Given the description of an element on the screen output the (x, y) to click on. 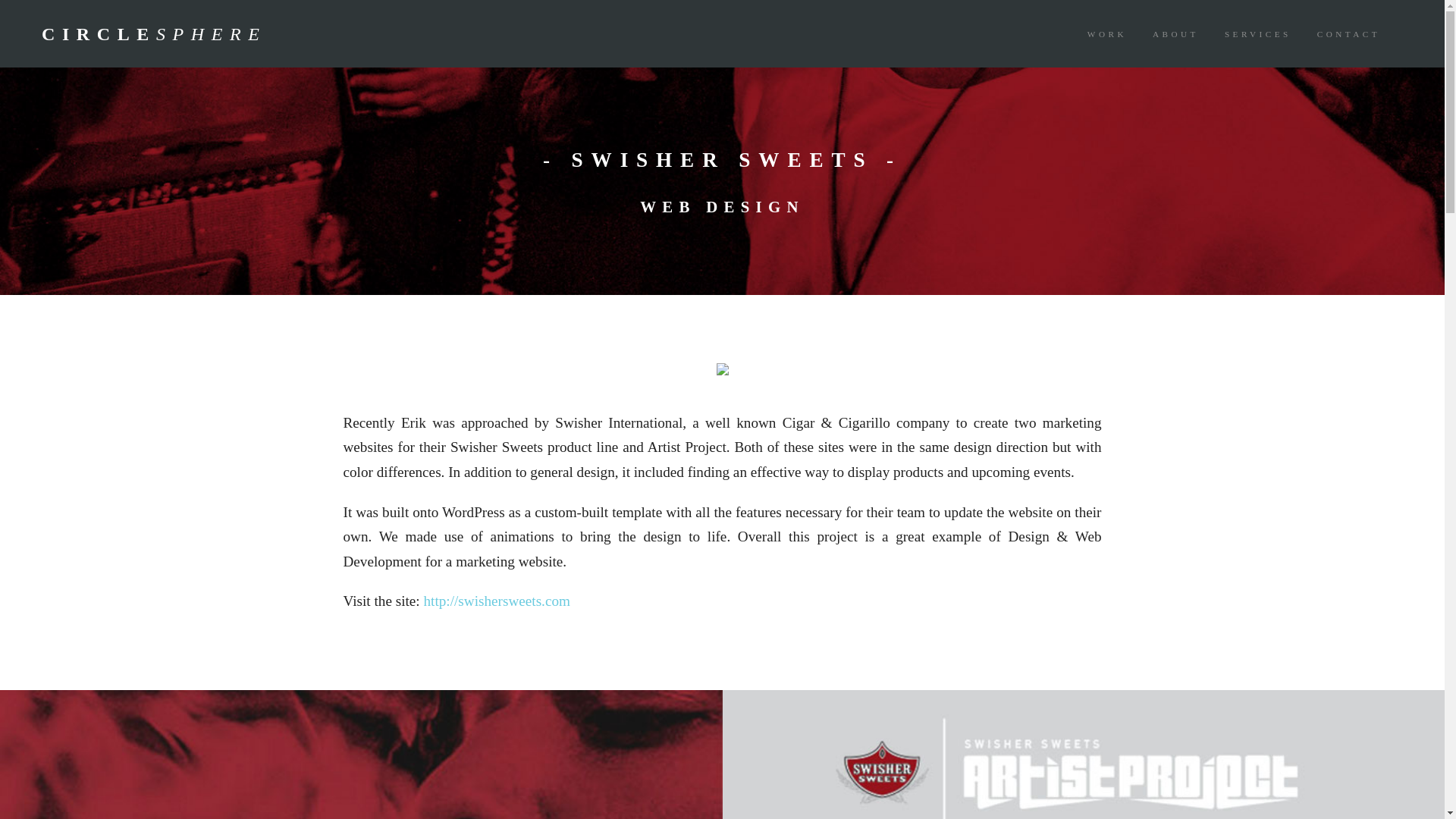
CONTACT (1348, 33)
WORK (1106, 33)
SERVICES (1257, 33)
CIRCLESPHERE (82, 34)
ABOUT (1175, 33)
